Given the description of an element on the screen output the (x, y) to click on. 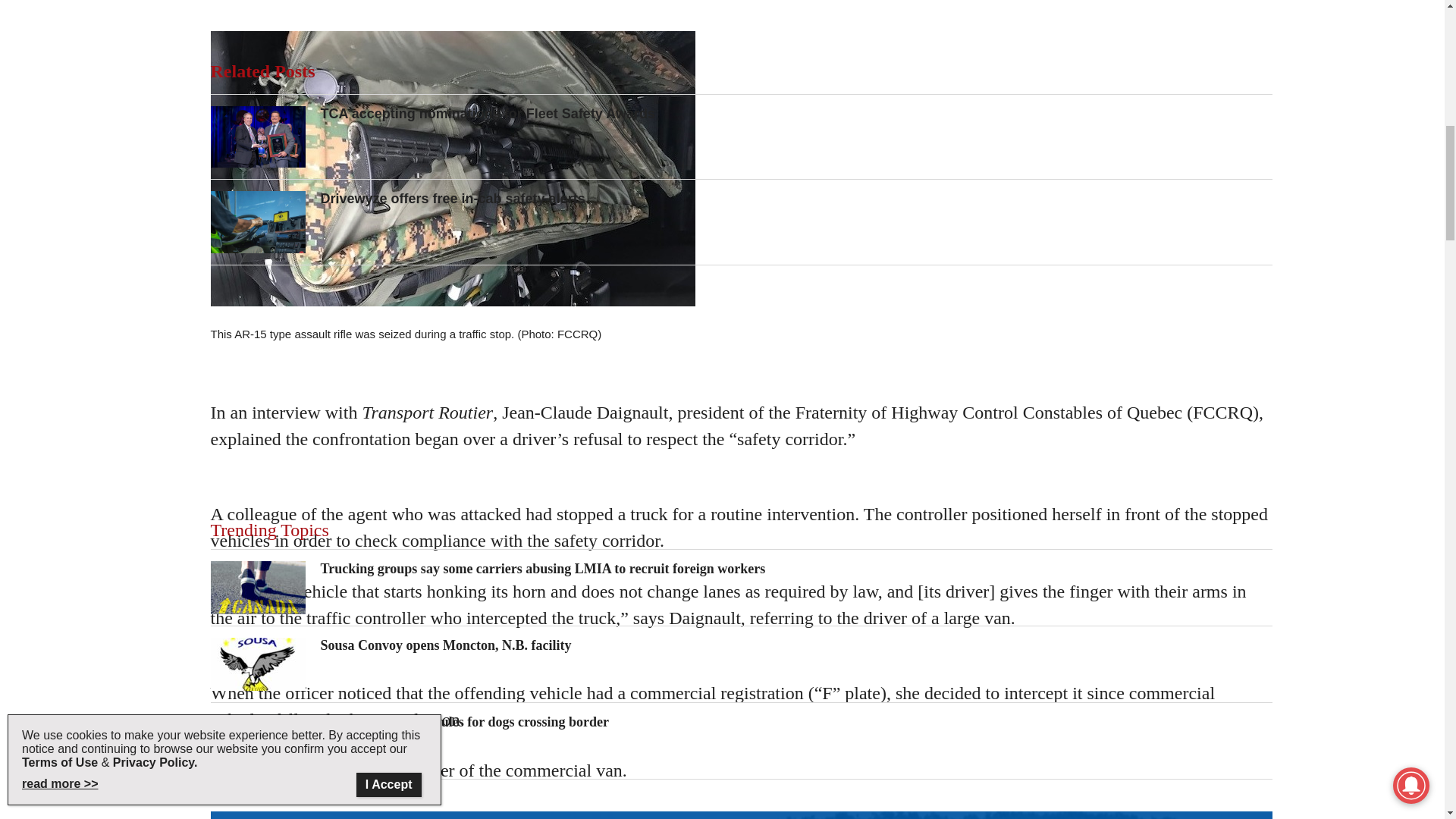
3rd party ad content (741, 13)
3rd party ad content (741, 391)
